Given the description of an element on the screen output the (x, y) to click on. 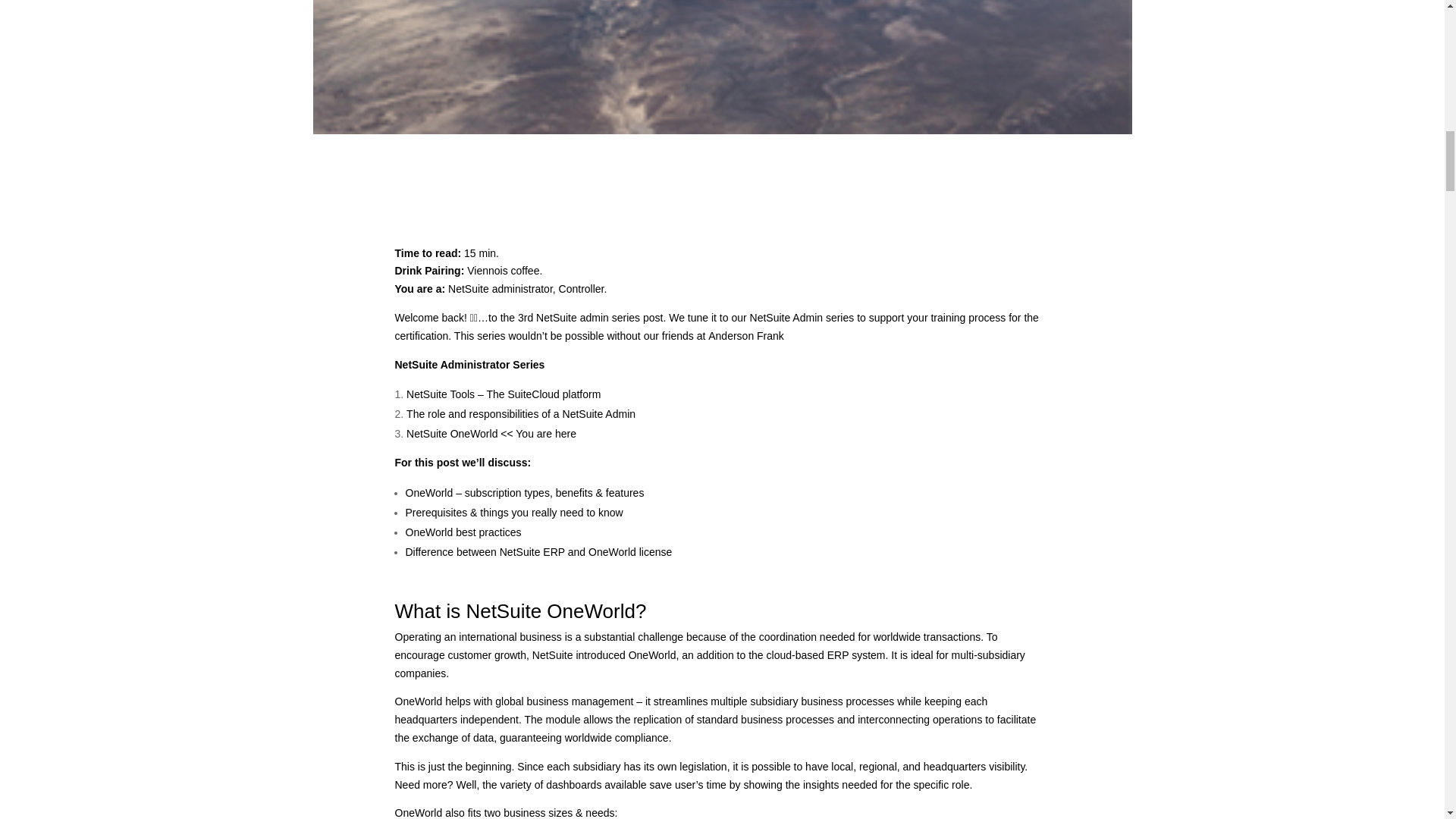
Anderson Frank (745, 336)
oneworld-featured (722, 66)
The role and responsibilities of a NetSuite Admin (520, 413)
